Given the description of an element on the screen output the (x, y) to click on. 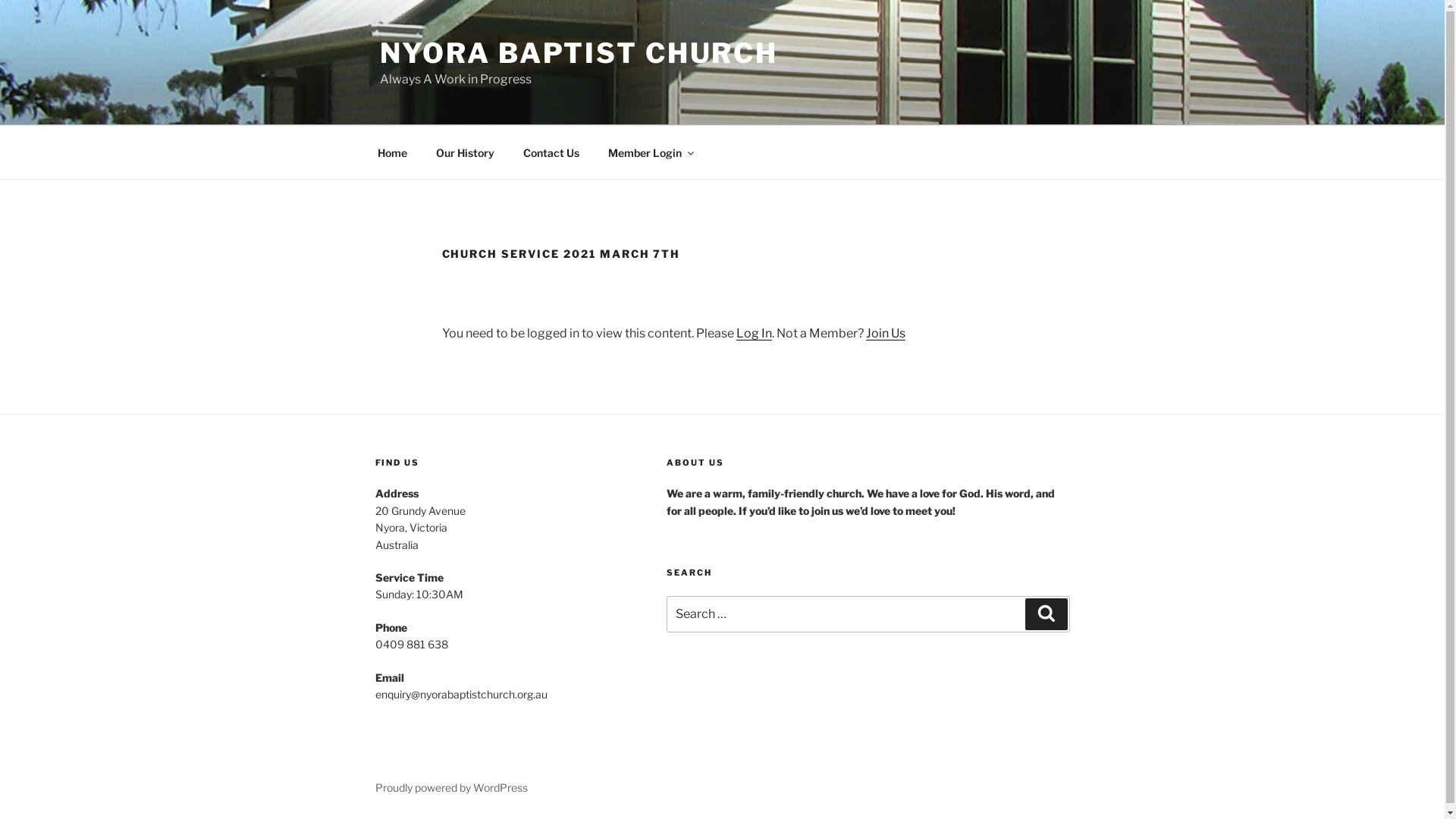
NYORA BAPTIST CHURCH Element type: text (578, 52)
Log In Element type: text (753, 333)
Join Us Element type: text (885, 333)
Home Element type: text (392, 151)
Our History Element type: text (465, 151)
Proudly powered by WordPress Element type: text (450, 787)
Skip to content Element type: text (0, 0)
Search Element type: text (1046, 614)
Member Login Element type: text (649, 151)
Contact Us Element type: text (550, 151)
